Given the description of an element on the screen output the (x, y) to click on. 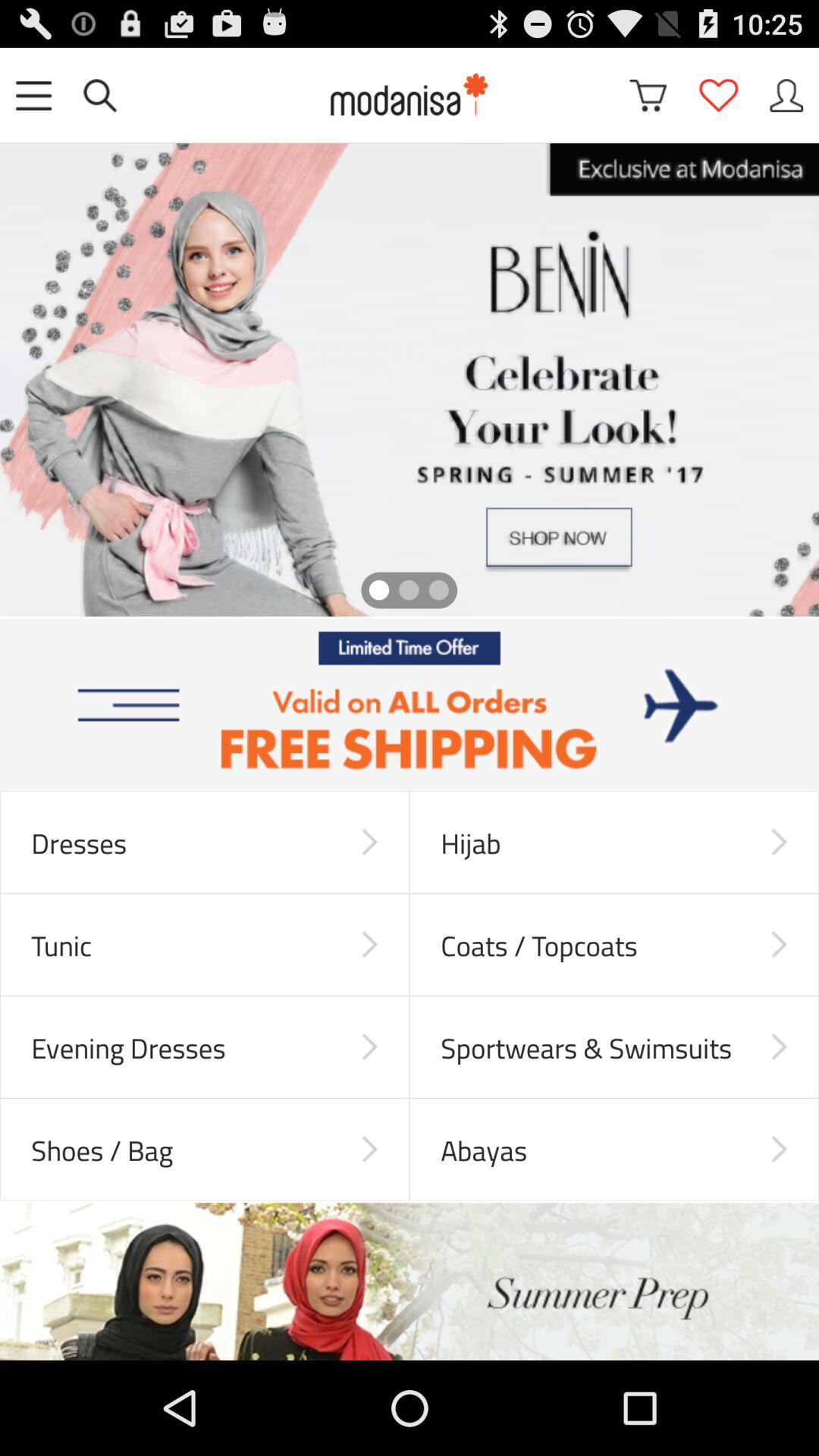
save to favorites (718, 95)
